Given the description of an element on the screen output the (x, y) to click on. 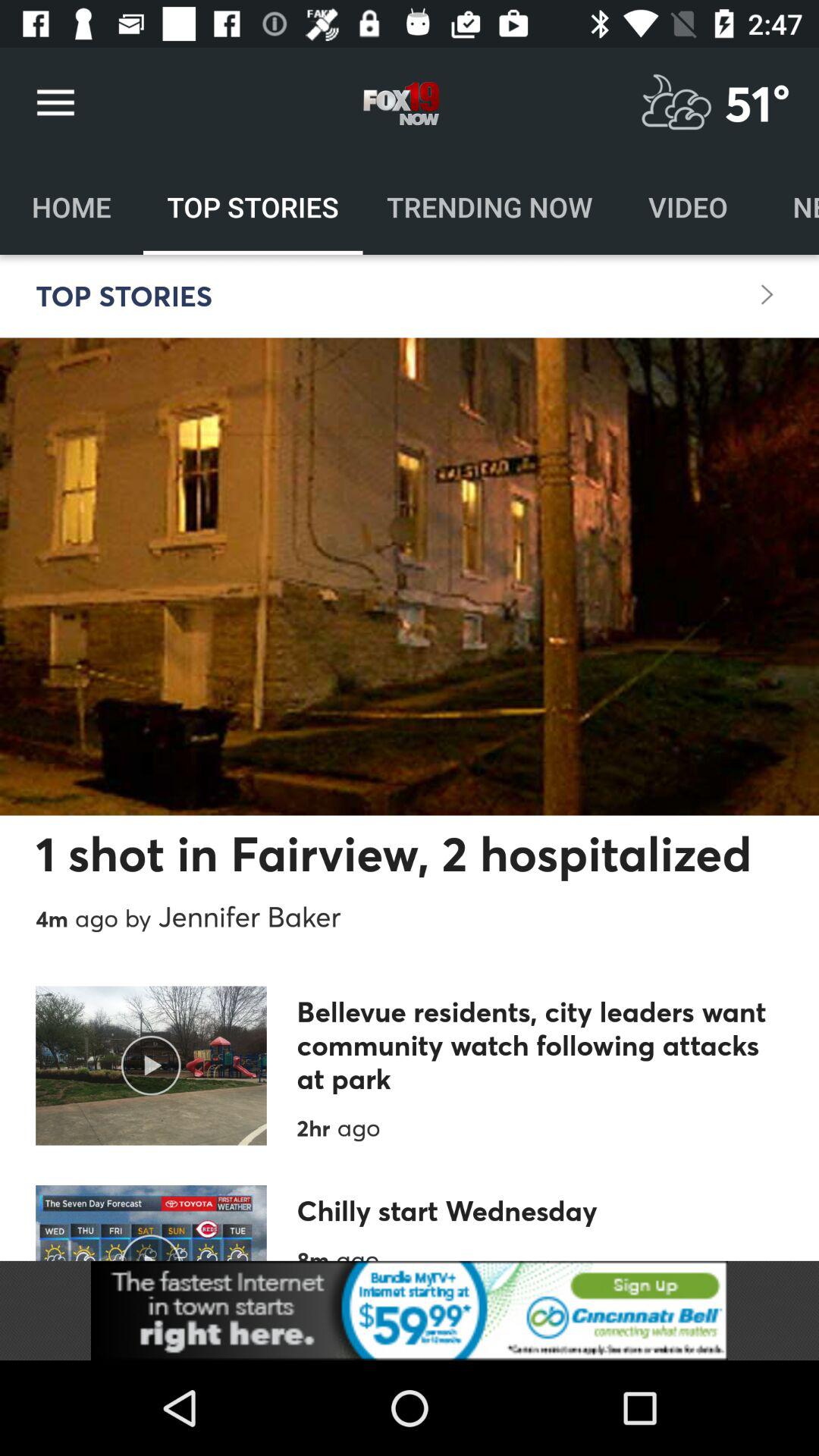
advertisement (409, 1310)
